Given the description of an element on the screen output the (x, y) to click on. 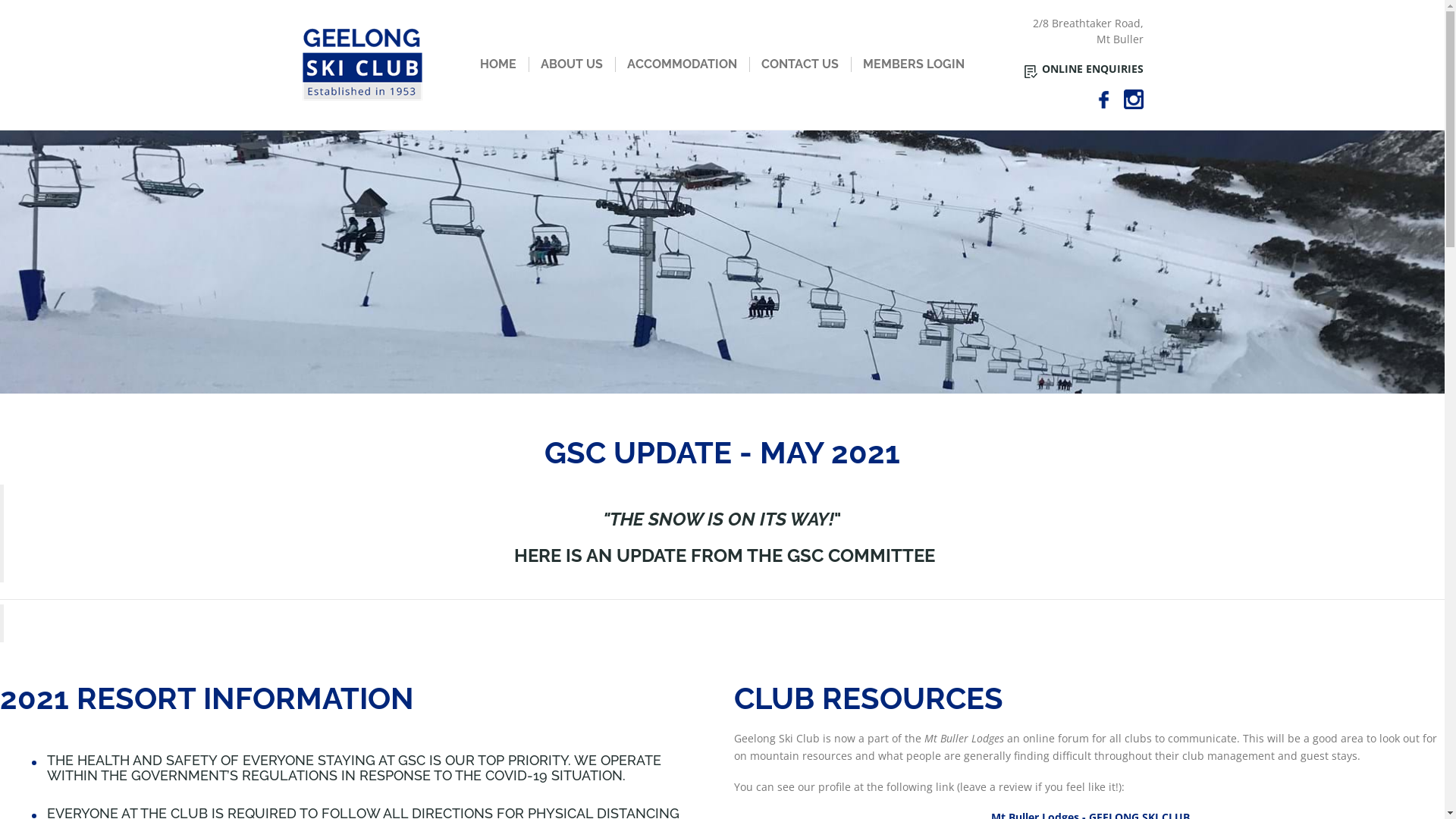
ONLINE ENQUIRIES Element type: text (1083, 68)
MEMBERS LOGIN Element type: text (913, 64)
HOME Element type: text (497, 64)
ABOUT US Element type: text (571, 64)
CONTACT US Element type: text (799, 64)
ACCOMMODATION Element type: text (682, 64)
